Given the description of an element on the screen output the (x, y) to click on. 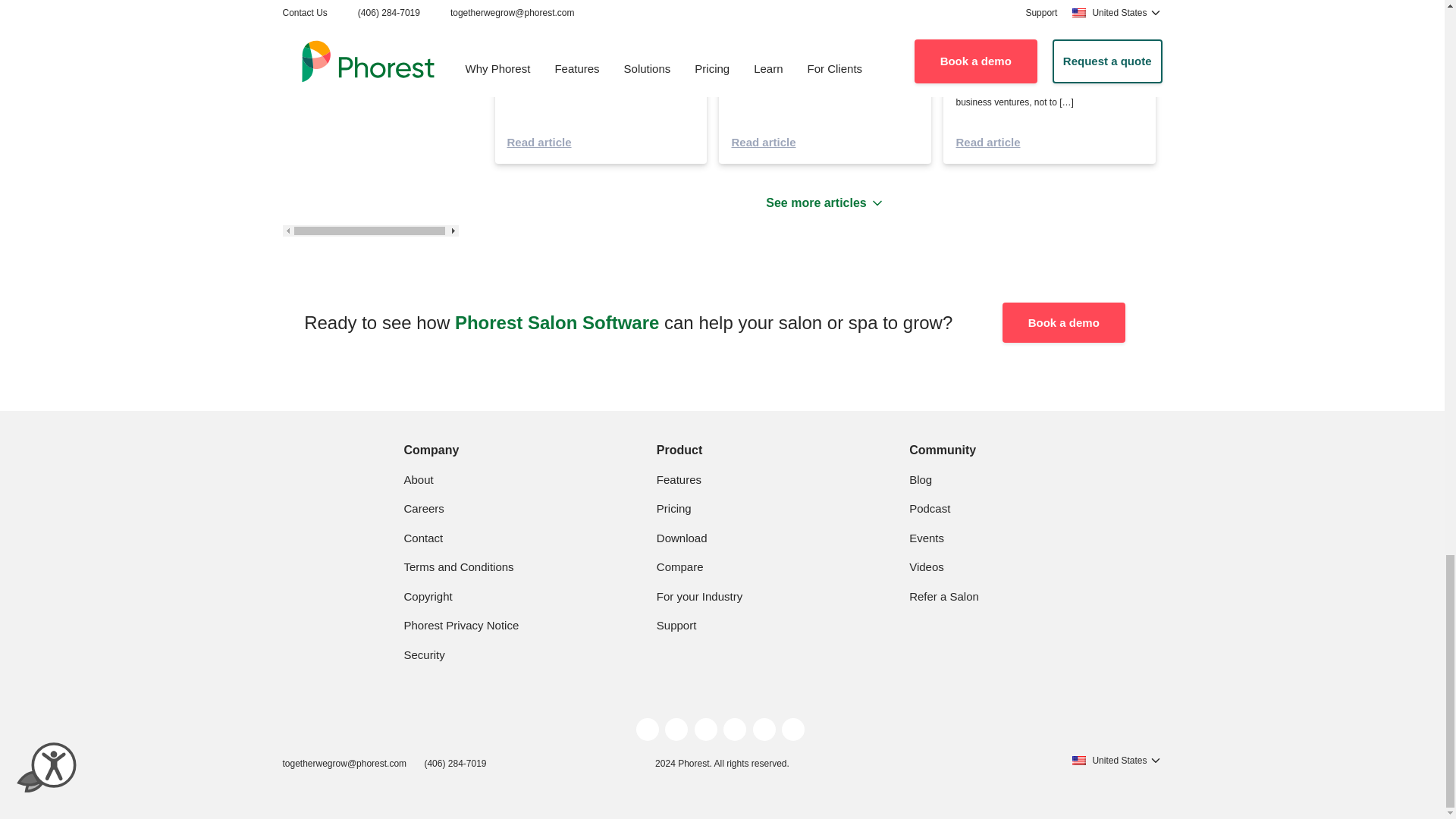
Linkedin (734, 729)
Instagram (676, 729)
Facebook (705, 729)
Twitter (647, 729)
Spotify (793, 729)
Youtube (764, 729)
